Given the description of an element on the screen output the (x, y) to click on. 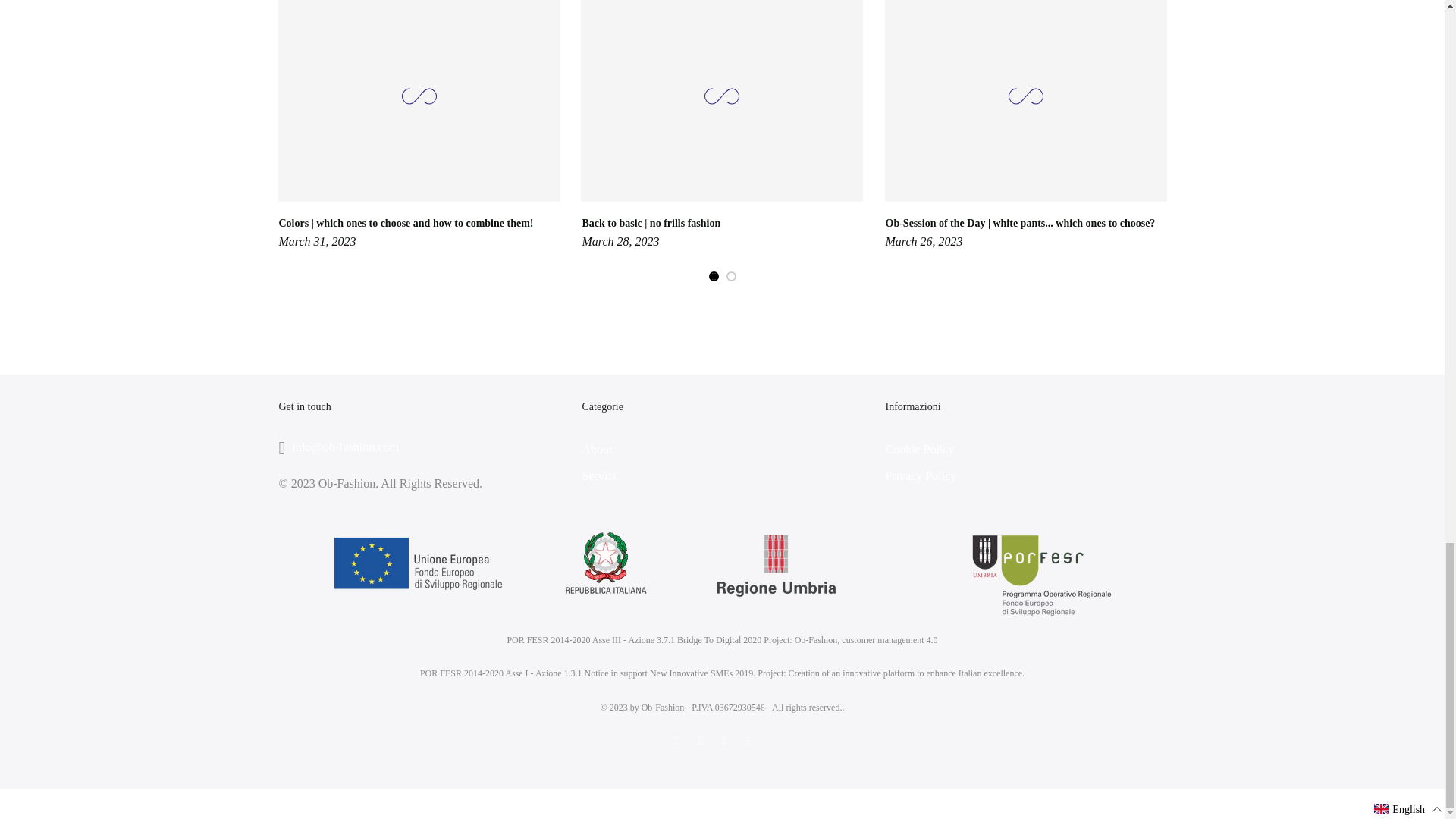
Cookie Policy (919, 449)
Servizi (597, 475)
About (595, 449)
Privacy Policy (920, 475)
